Given the description of an element on the screen output the (x, y) to click on. 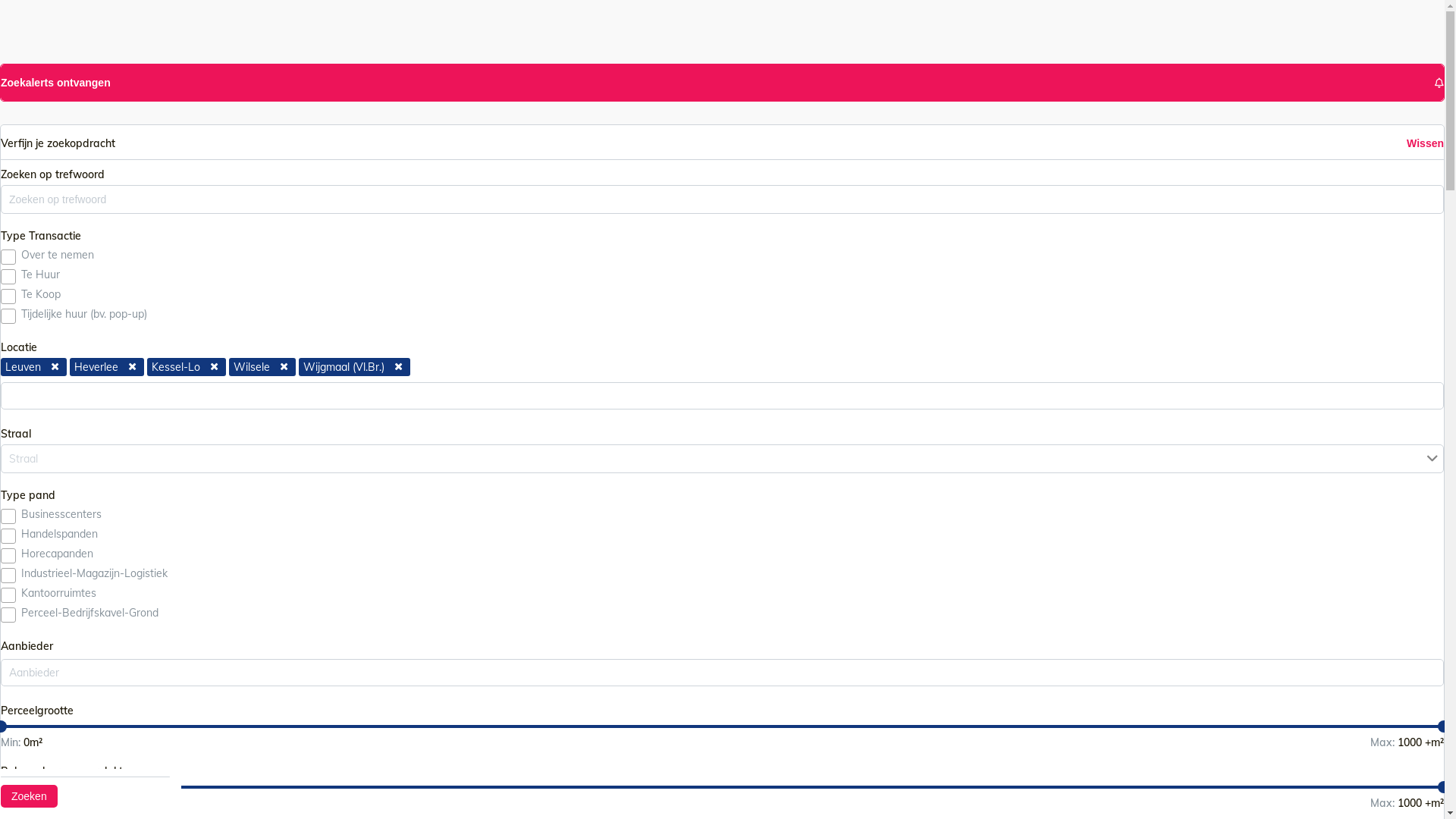
Zoeken Element type: text (28, 795)
Wissen Element type: text (1424, 143)
Zoekalerts ontvangen Element type: text (721, 82)
